Given the description of an element on the screen output the (x, y) to click on. 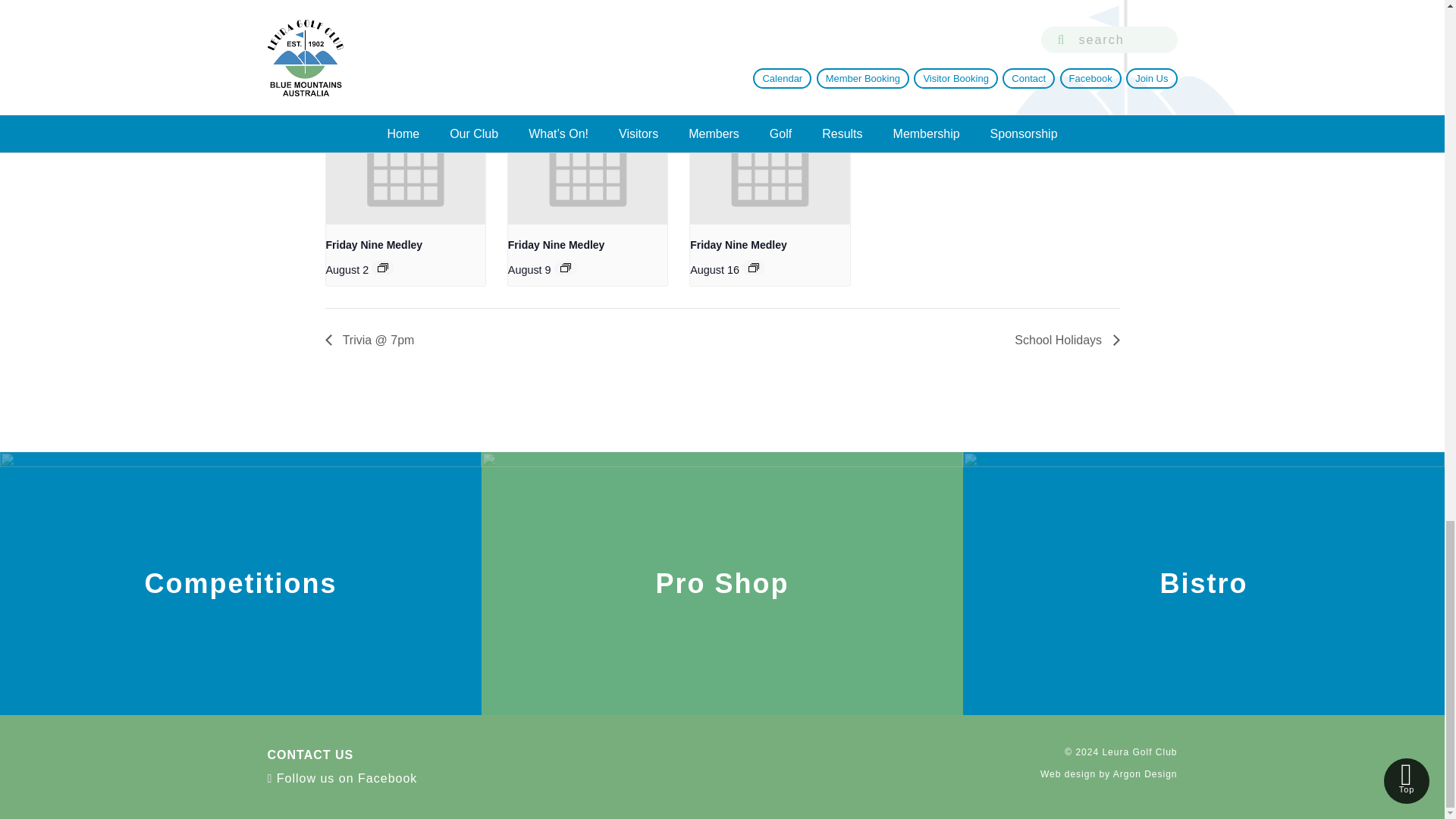
Event Series (382, 266)
Event Series (753, 266)
Event Series (565, 266)
